Given the description of an element on the screen output the (x, y) to click on. 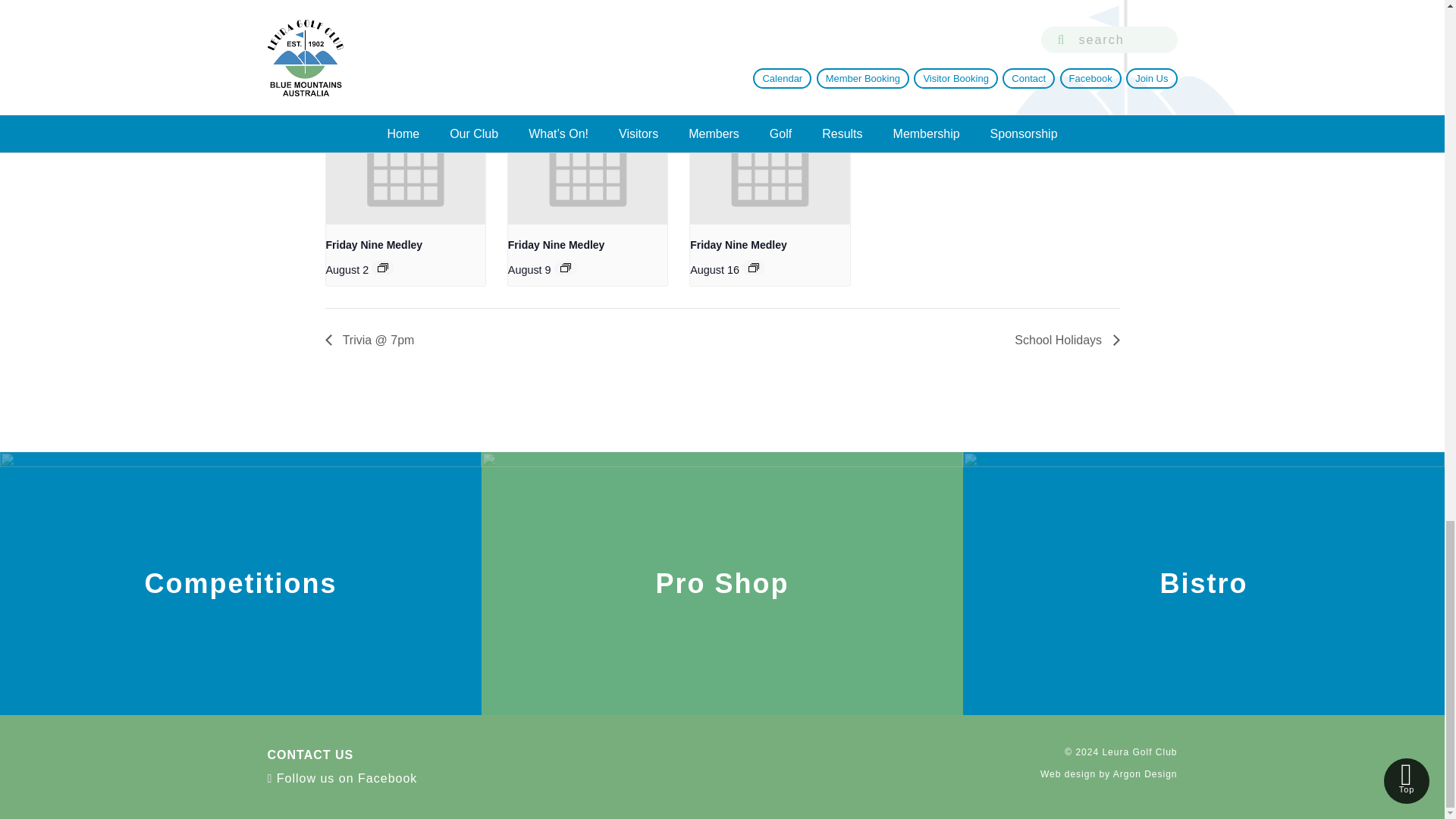
Event Series (382, 266)
Event Series (753, 266)
Event Series (565, 266)
